Given the description of an element on the screen output the (x, y) to click on. 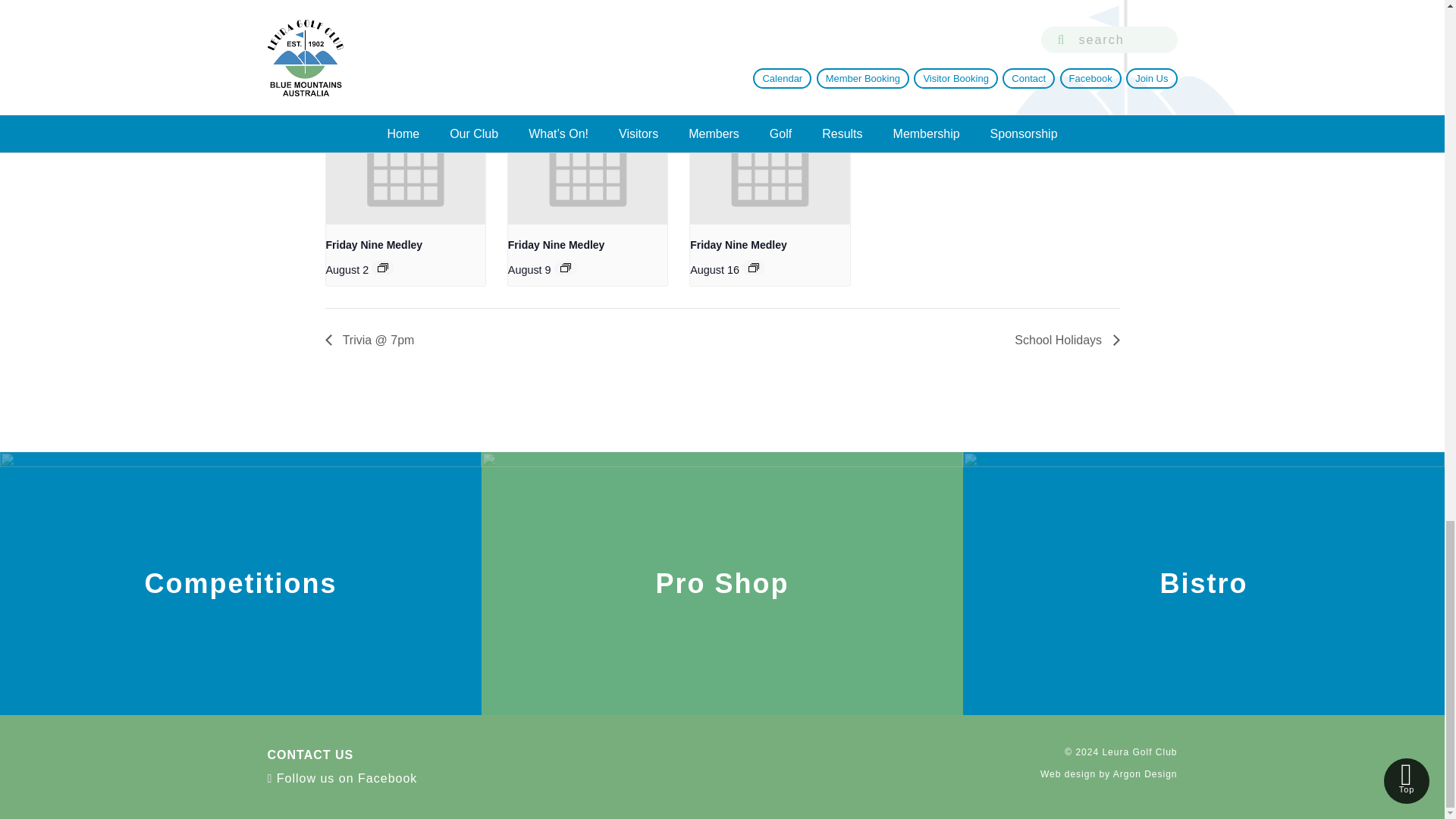
Event Series (382, 266)
Event Series (753, 266)
Event Series (565, 266)
